Given the description of an element on the screen output the (x, y) to click on. 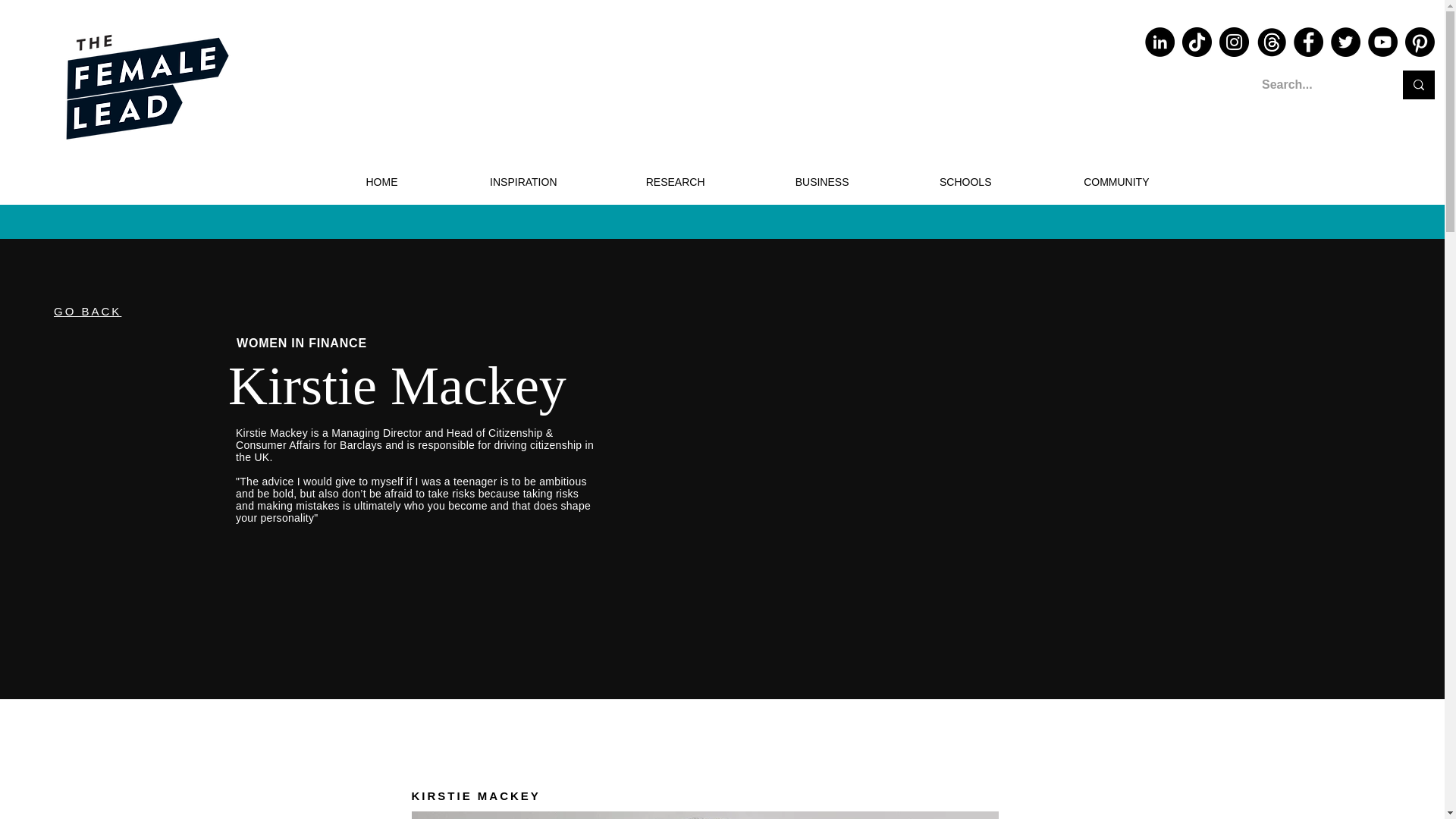
GO BACK (86, 311)
RESEARCH (642, 181)
INSPIRATION (489, 181)
BUSINESS (788, 181)
SCHOOLS (931, 181)
HOME (347, 181)
COMMUNITY (1081, 181)
